Given the description of an element on the screen output the (x, y) to click on. 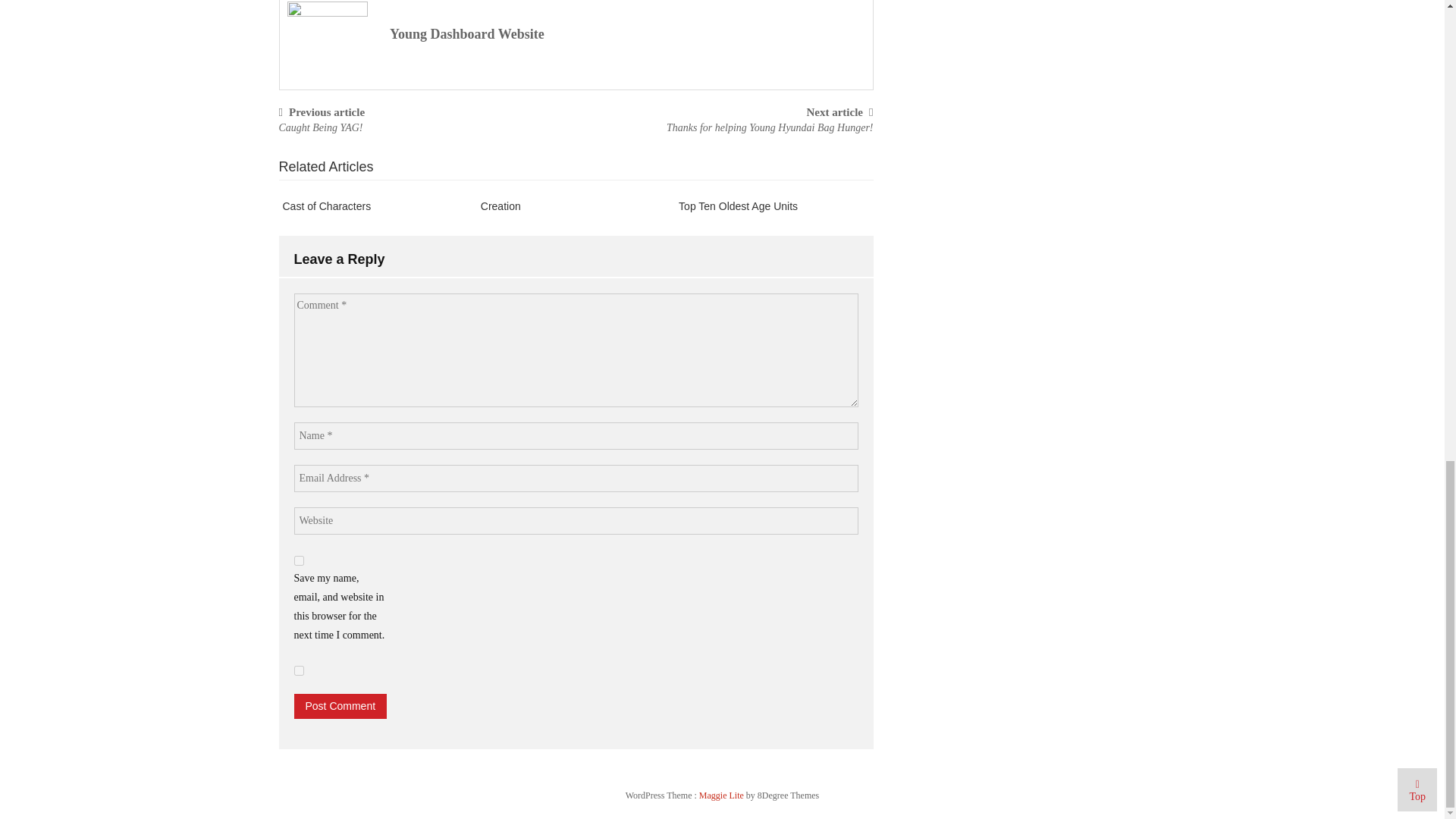
yes (299, 670)
Free WordPress Theme (721, 795)
Post Comment (340, 706)
yes (299, 560)
